Given the description of an element on the screen output the (x, y) to click on. 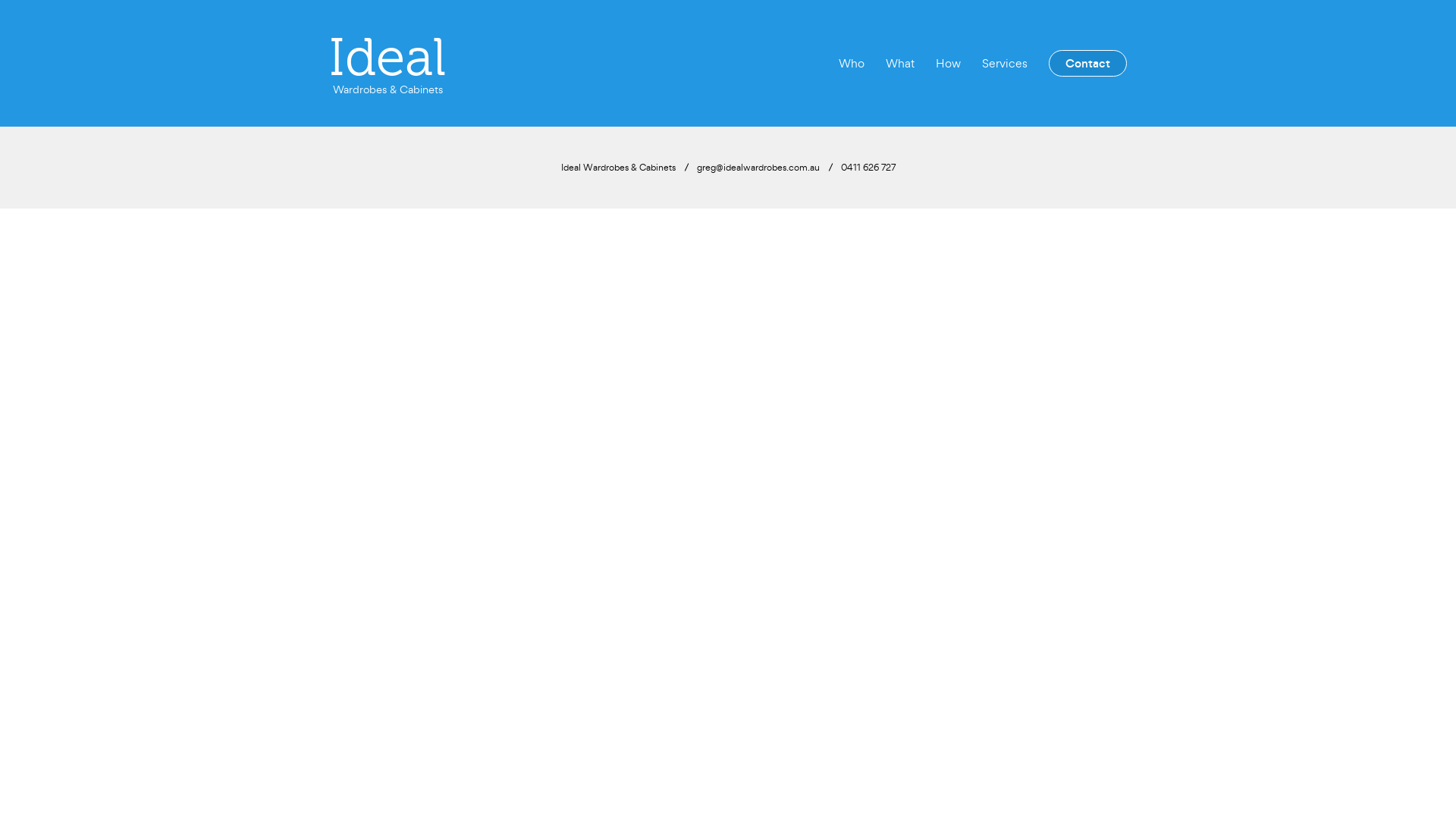
Services Element type: text (1004, 62)
What Element type: text (899, 62)
How Element type: text (947, 62)
greg@idealwardrobes.com.au Element type: text (757, 166)
Who Element type: text (851, 62)
Ideal
Wardrobes & Cabinets Element type: text (387, 62)
Contact Element type: text (1087, 63)
0411 626 727 Element type: text (867, 166)
